Given the description of an element on the screen output the (x, y) to click on. 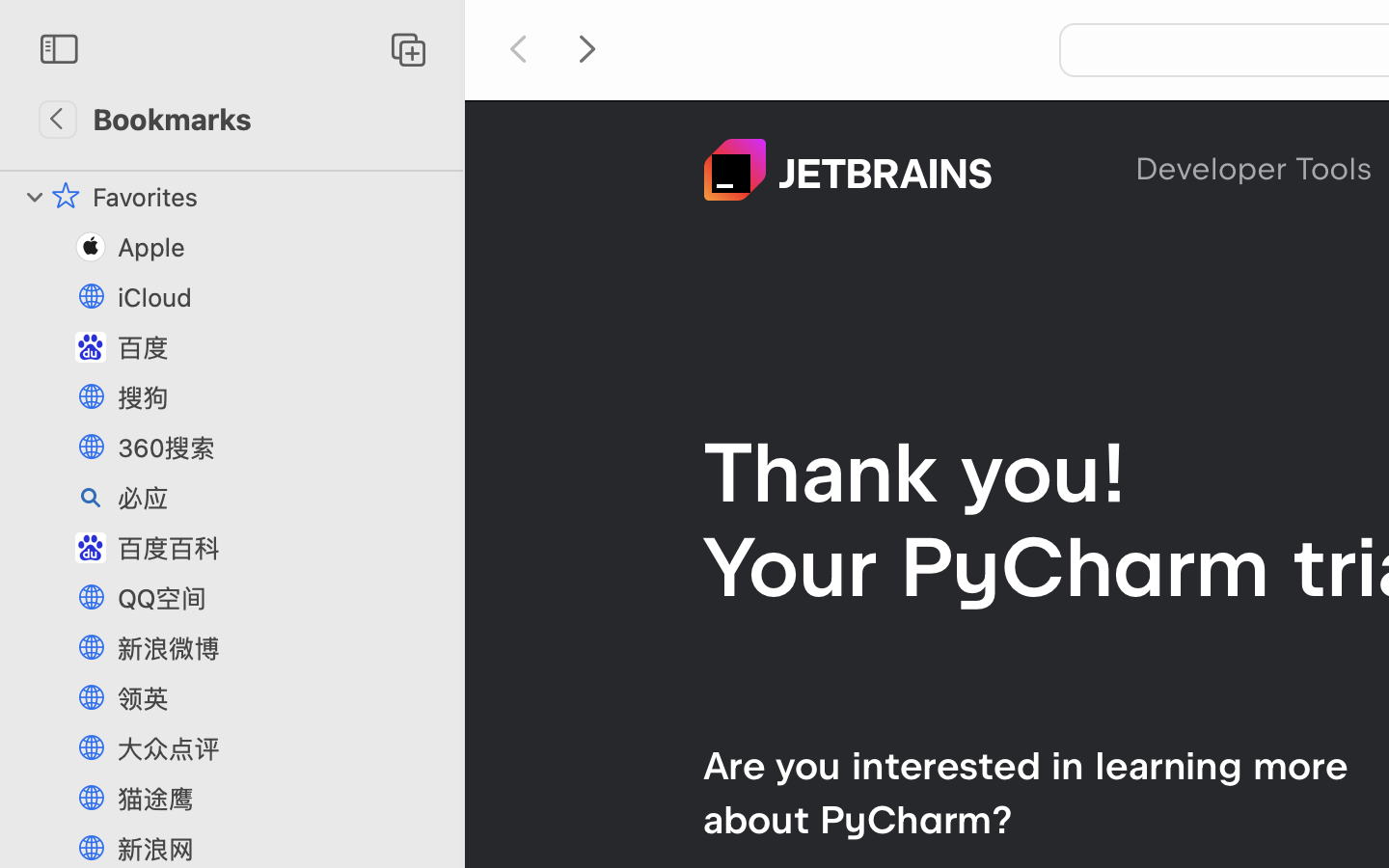
Apple Element type: AXTextField (280, 246)
360搜索 Element type: AXTextField (280, 447)
大众点评 Element type: AXTextField (280, 747)
iCloud Element type: AXTextField (280, 296)
猫途鹰 Element type: AXTextField (280, 798)
